Given the description of an element on the screen output the (x, y) to click on. 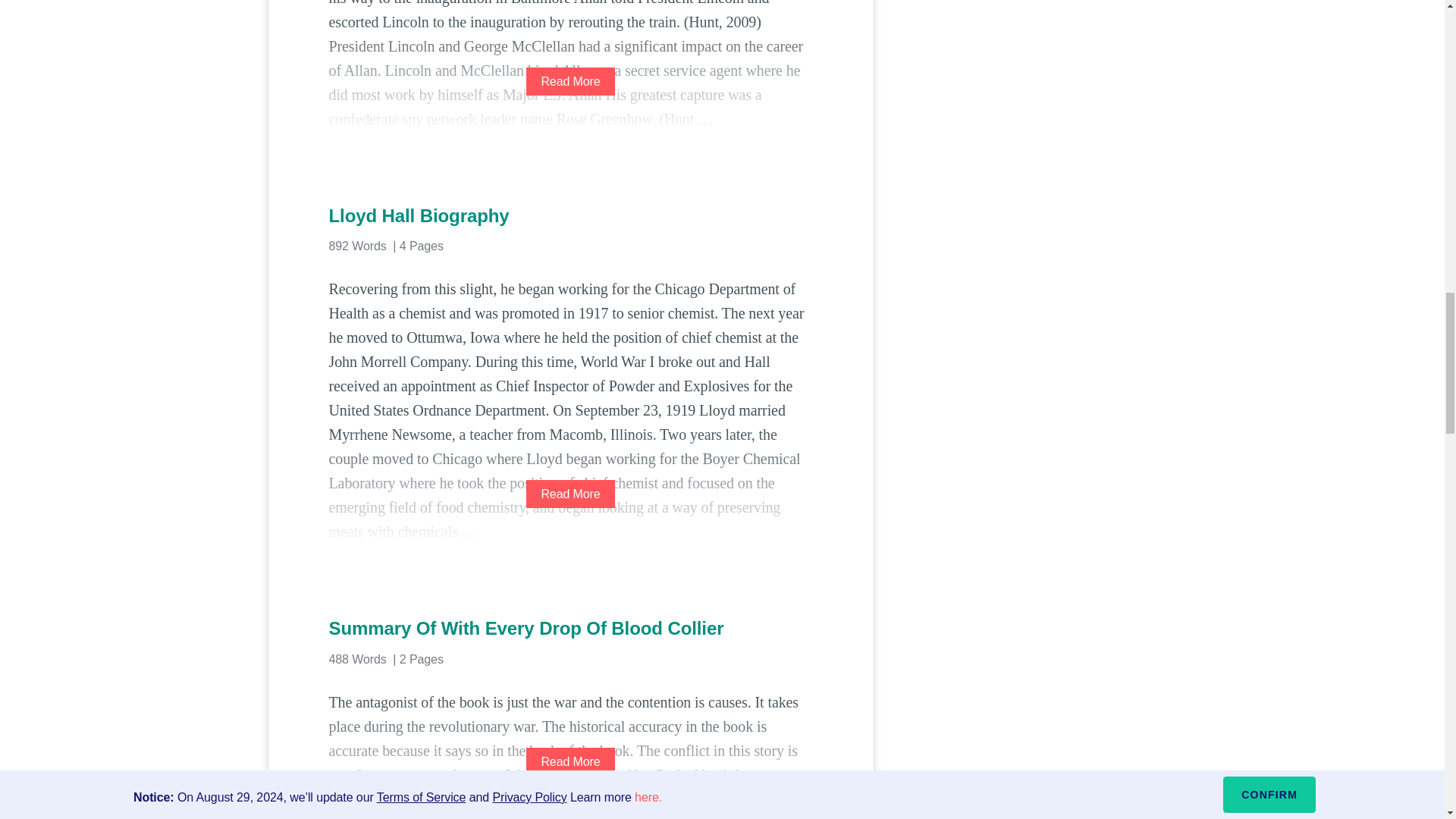
Summary Of With Every Drop Of Blood Collier (570, 628)
Read More (569, 761)
Read More (569, 81)
Read More (569, 493)
Lloyd Hall Biography (570, 215)
